Given the description of an element on the screen output the (x, y) to click on. 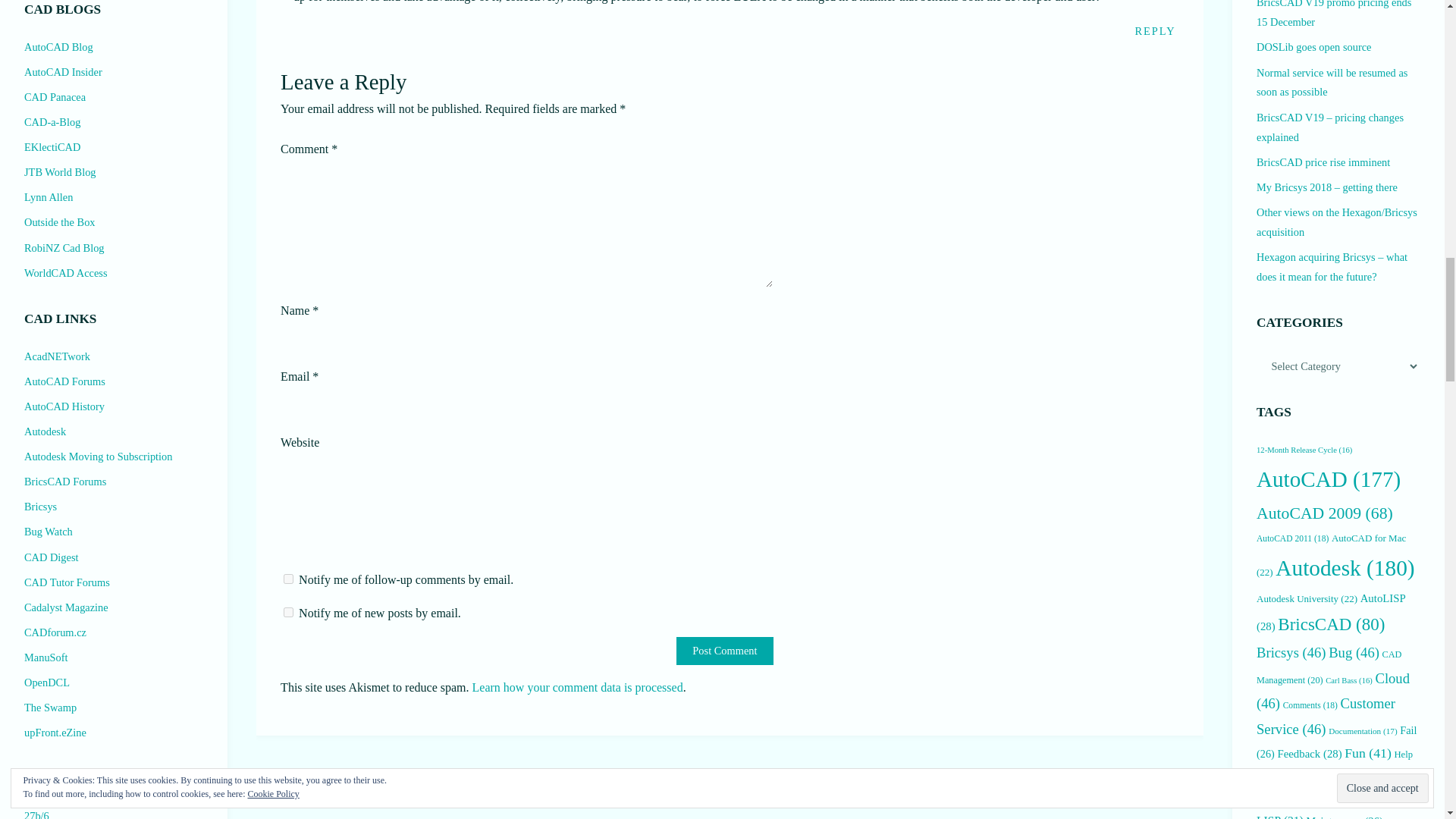
Post Comment (725, 651)
subscribe (288, 578)
subscribe (288, 612)
